Given the description of an element on the screen output the (x, y) to click on. 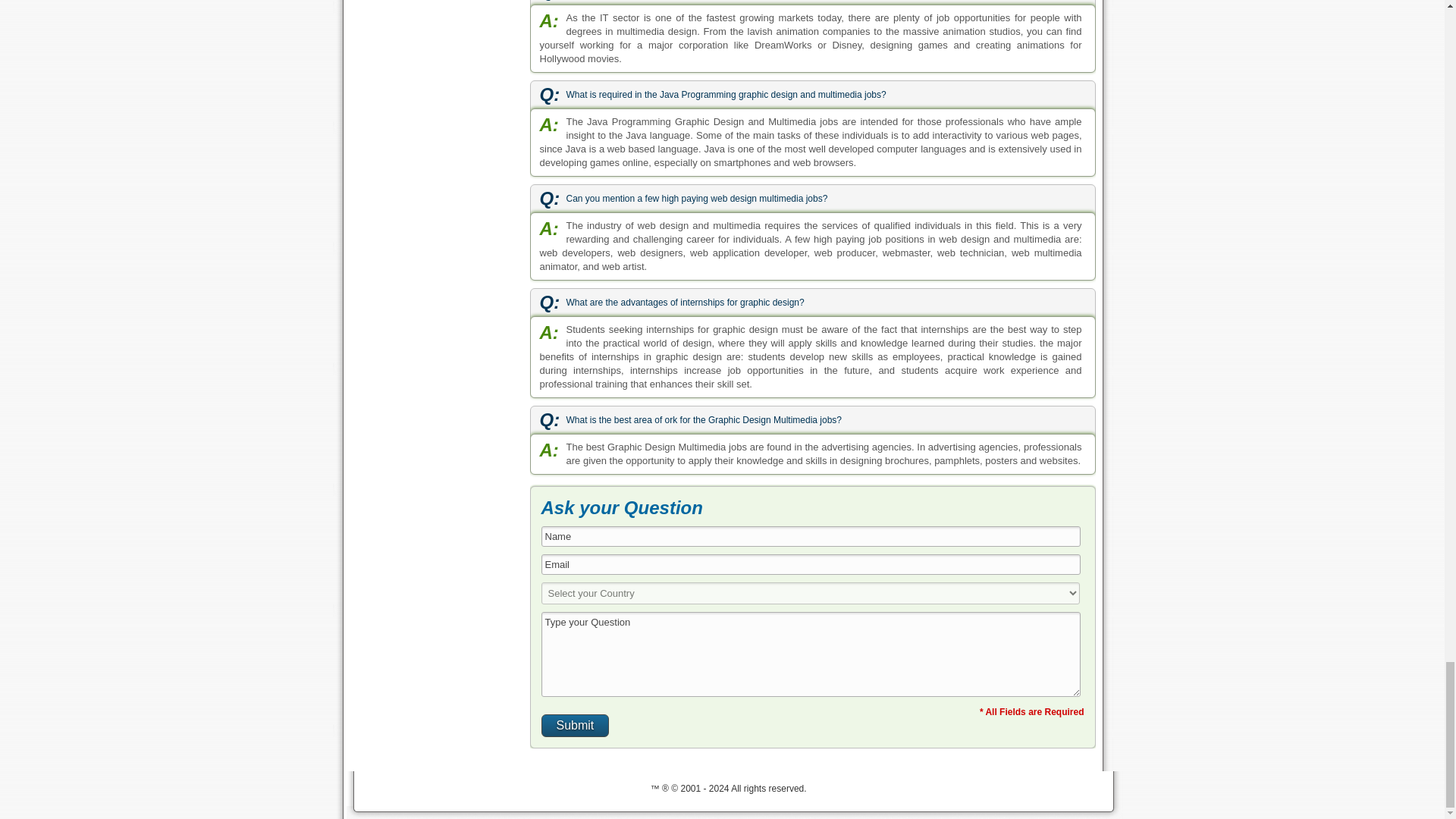
Email (811, 564)
Submit (575, 725)
Name (811, 536)
